Given the description of an element on the screen output the (x, y) to click on. 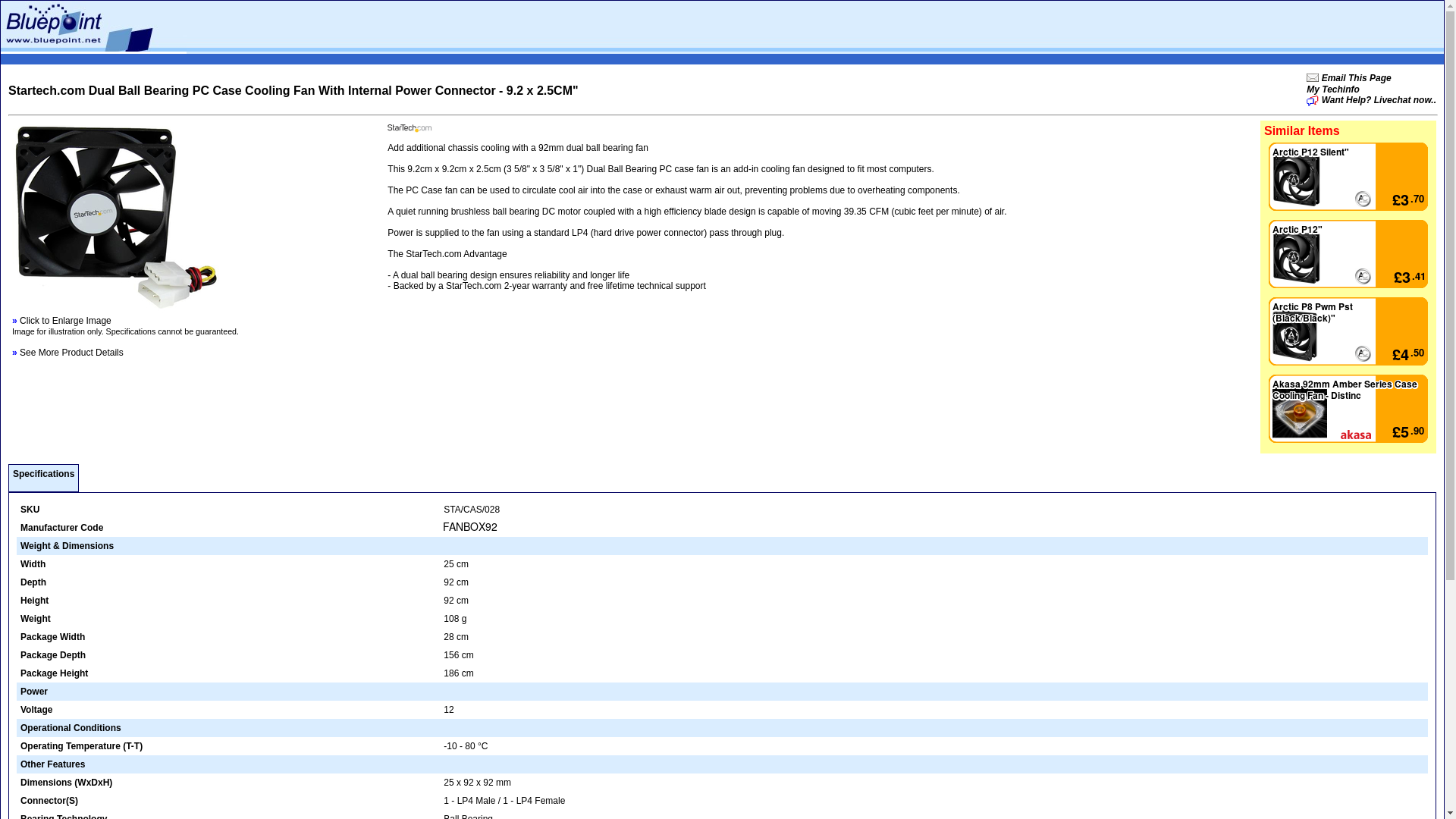
My Techinfo (1332, 89)
 Email This Page (1354, 77)
Specifications (43, 473)
Email This Page (1312, 78)
Send Techinfo with My Brand (1332, 89)
 Want Help? Livechat now.. (1370, 100)
Livechat to the Technical Team (1370, 100)
